Given the description of an element on the screen output the (x, y) to click on. 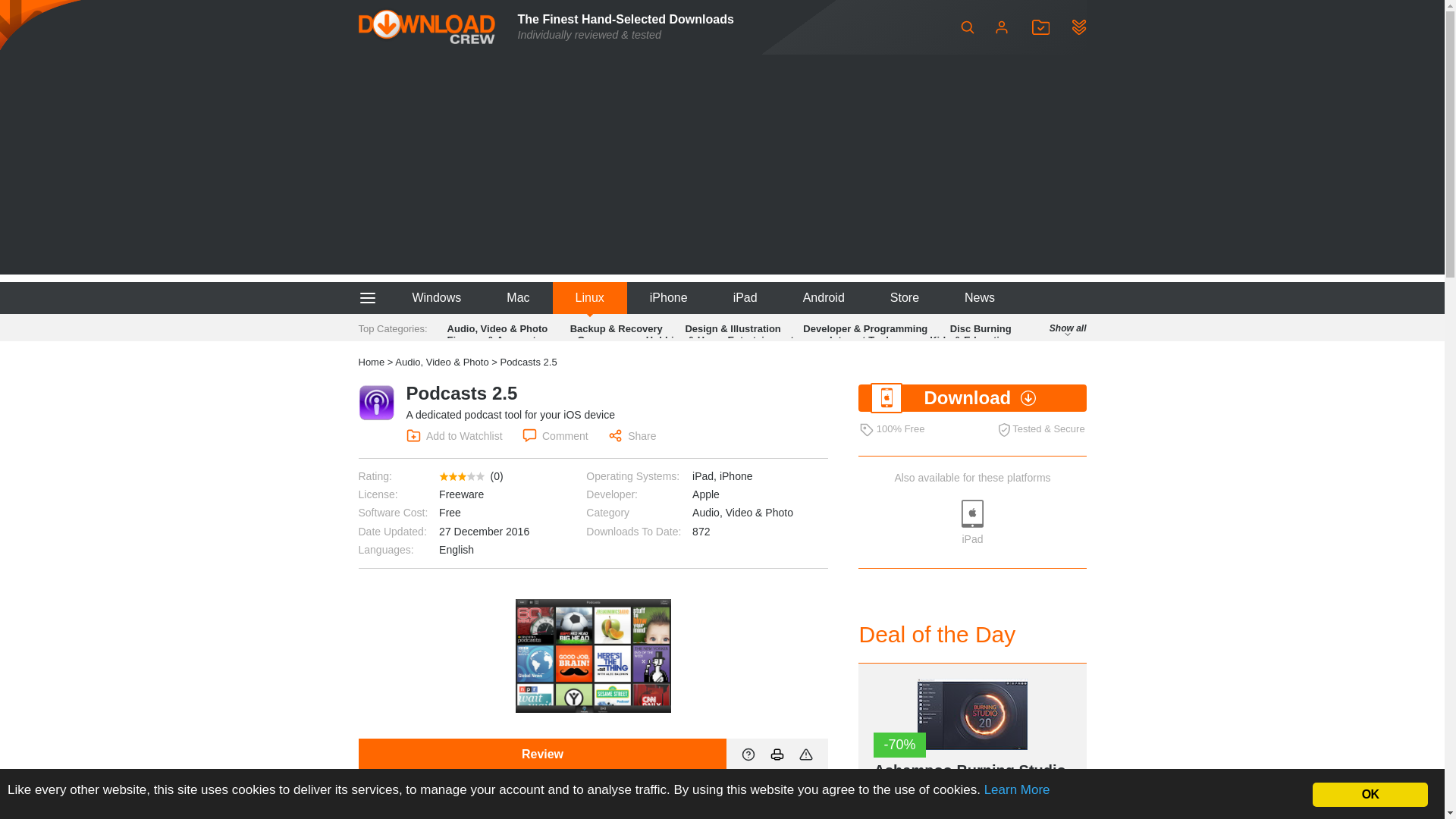
Disc Burning (980, 328)
Internet Tools (861, 339)
iPhone (668, 297)
Games (593, 339)
Windows (435, 297)
Downloadcrew - Home (426, 26)
iPad (745, 297)
Mac (517, 297)
Android (823, 297)
Linux (590, 297)
